Given the description of an element on the screen output the (x, y) to click on. 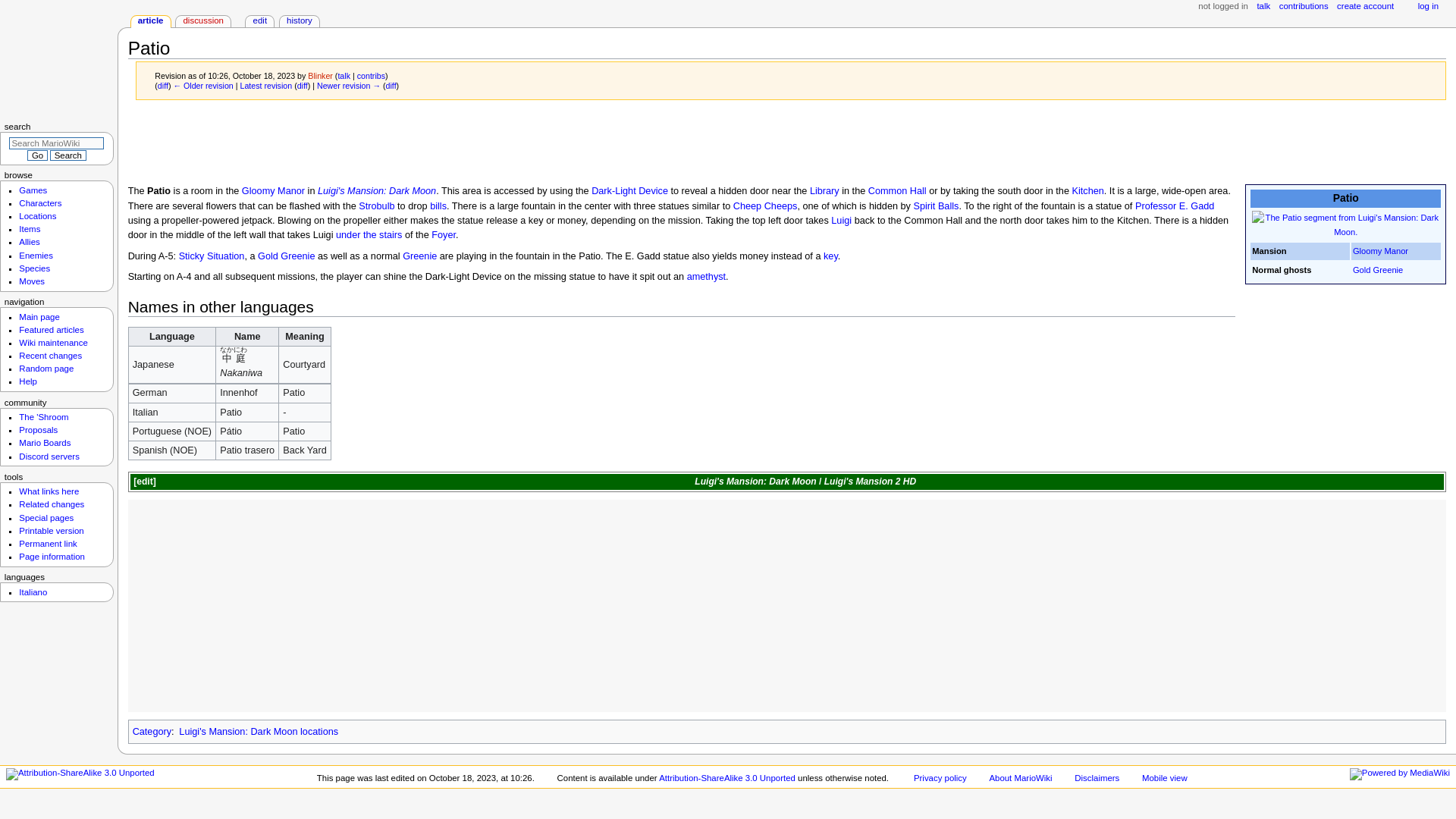
Cheep Cheeps (765, 205)
Dark-Light Device (629, 190)
User talk:Blinker (343, 75)
Gold Greenie (285, 255)
Library (824, 190)
Patio (302, 85)
diff (390, 85)
Search (67, 154)
Gloomy Manor (272, 190)
Patio (390, 85)
Patio (348, 85)
Patio (162, 85)
Gold Greenie (1377, 269)
Patio (266, 85)
contribs (370, 75)
